Given the description of an element on the screen output the (x, y) to click on. 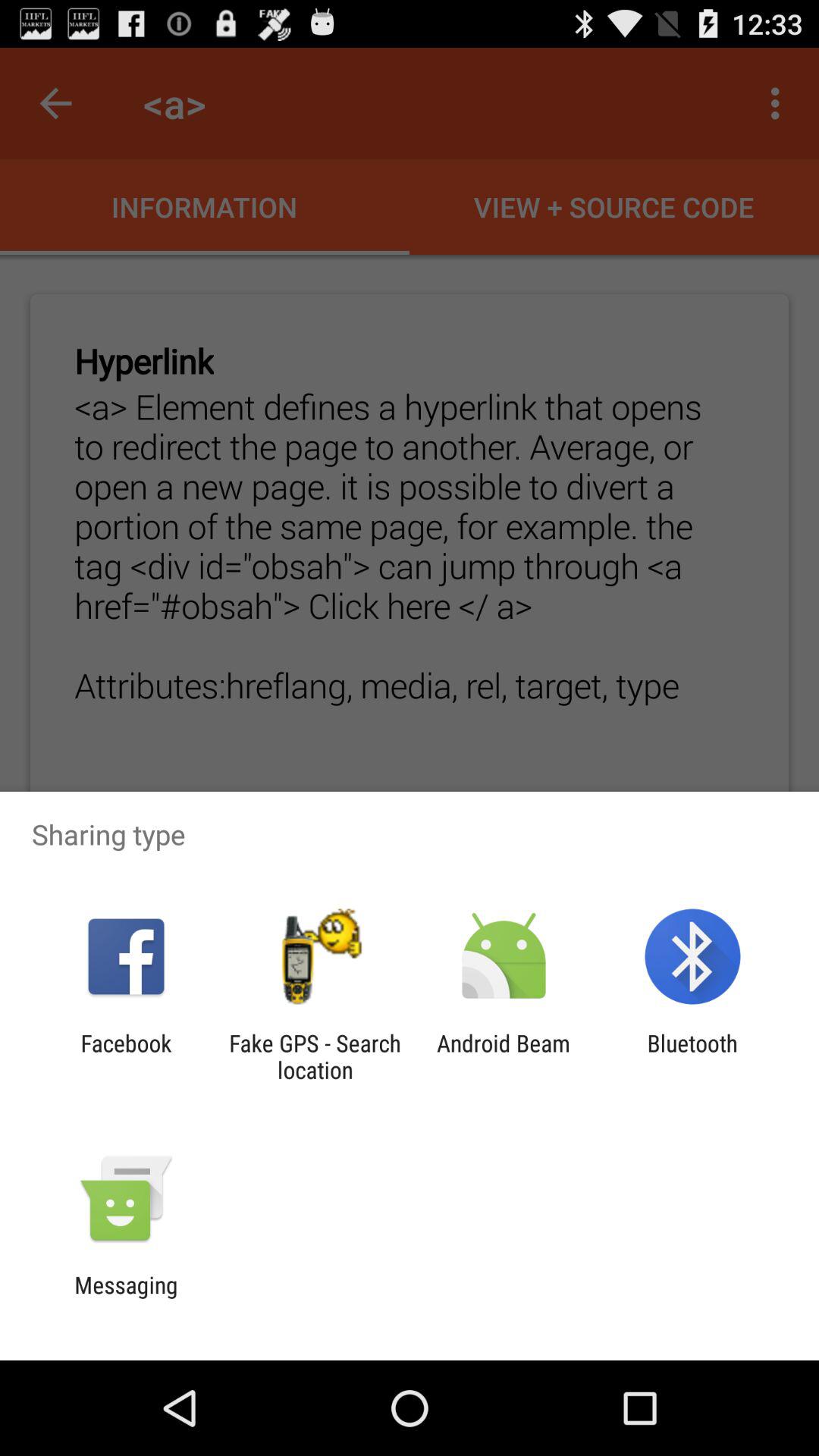
flip until bluetooth app (692, 1056)
